Given the description of an element on the screen output the (x, y) to click on. 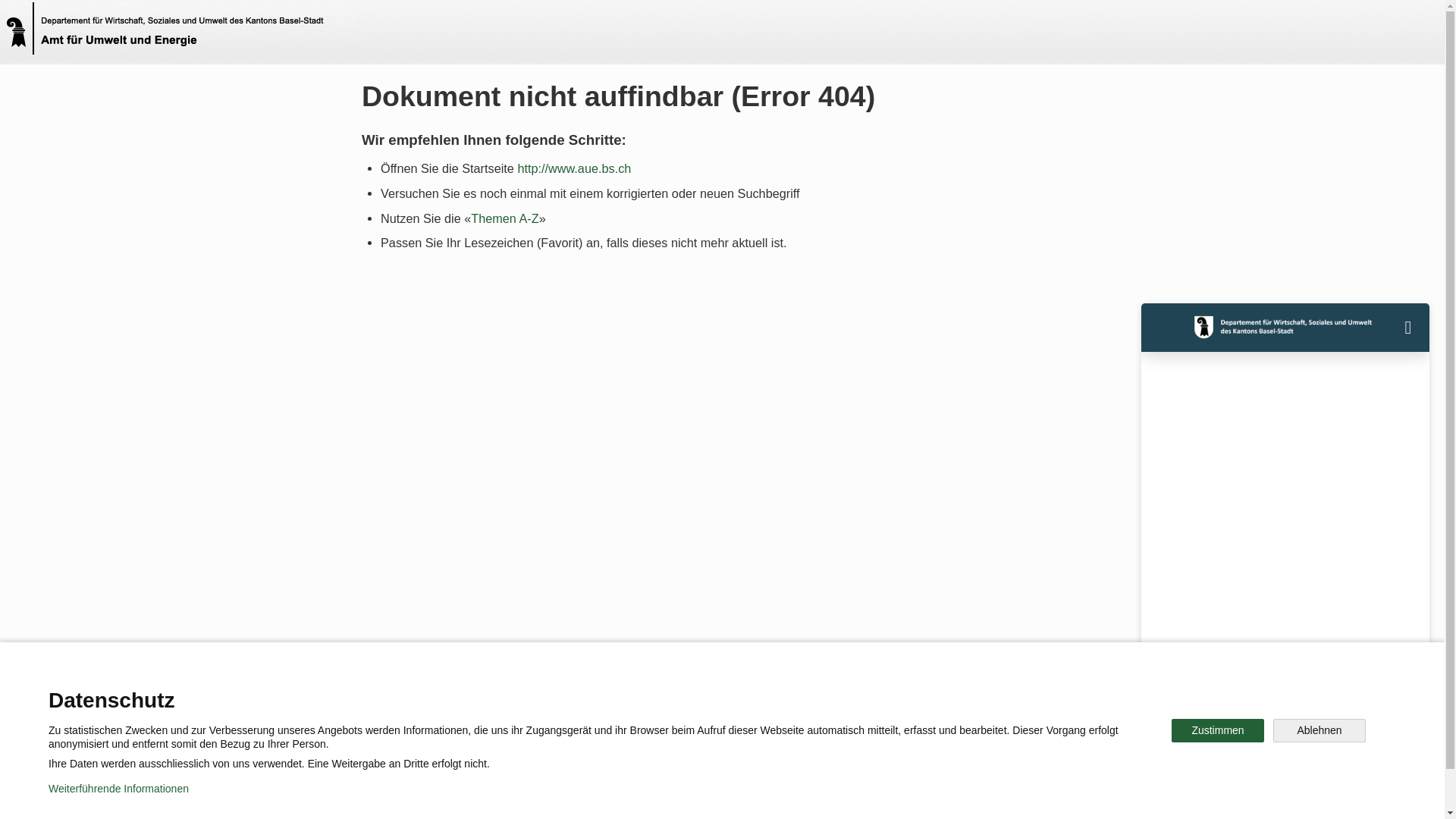
Themen A-Z Element type: text (504, 217)
Ablehnen Element type: text (1319, 730)
Zustimmen Element type: text (1217, 730)
Zur mobilen Ansicht Element type: text (752, 796)
Nutzungsregelungen Element type: text (542, 796)
Impressum Element type: text (648, 796)
http://www.aue.bs.ch Element type: text (573, 168)
